Given the description of an element on the screen output the (x, y) to click on. 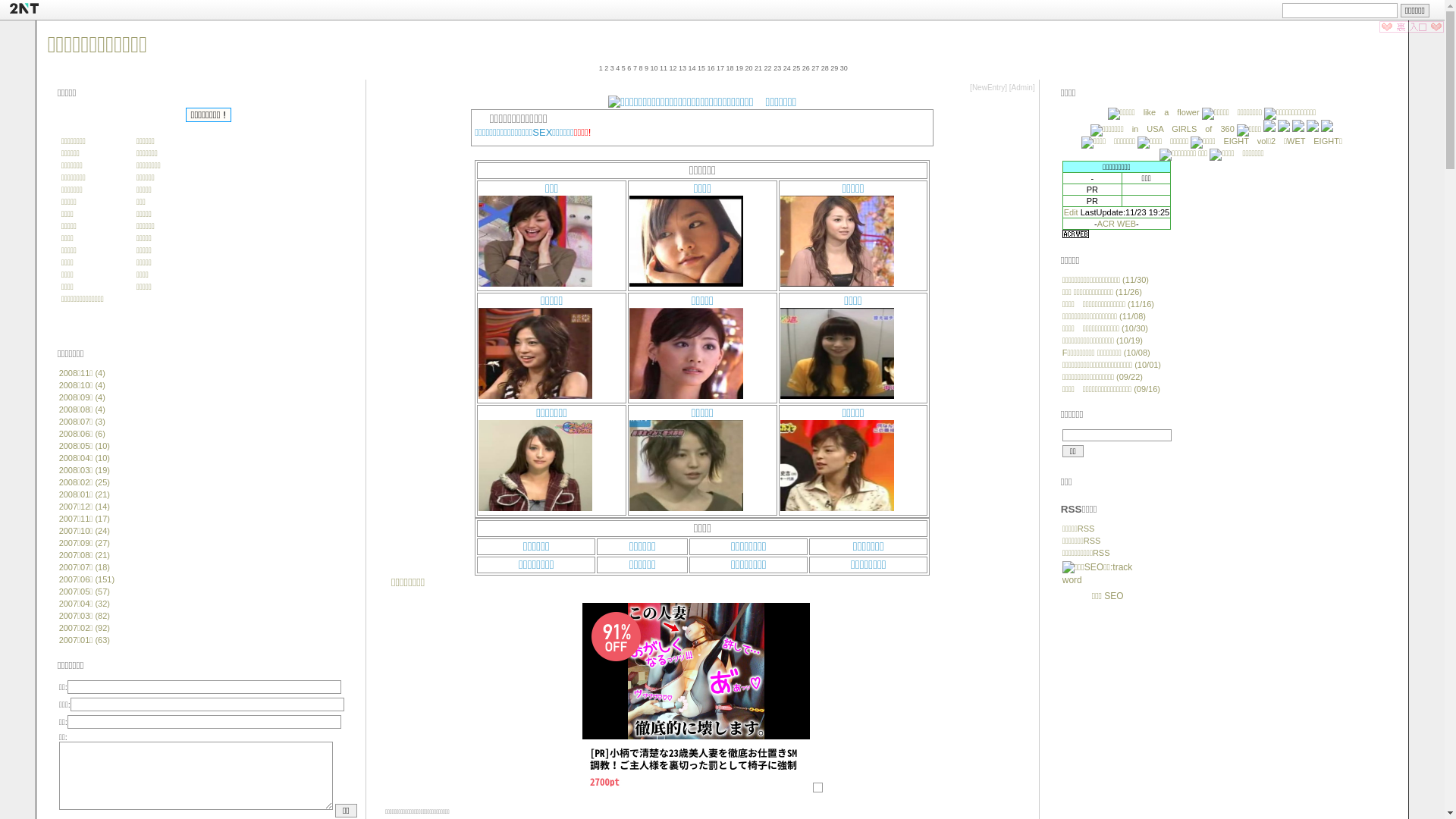
Admin Element type: text (1021, 87)
ACR WEB Element type: text (1116, 223)
NewEntry Element type: text (988, 87)
Edit Element type: text (1070, 211)
